Given the description of an element on the screen output the (x, y) to click on. 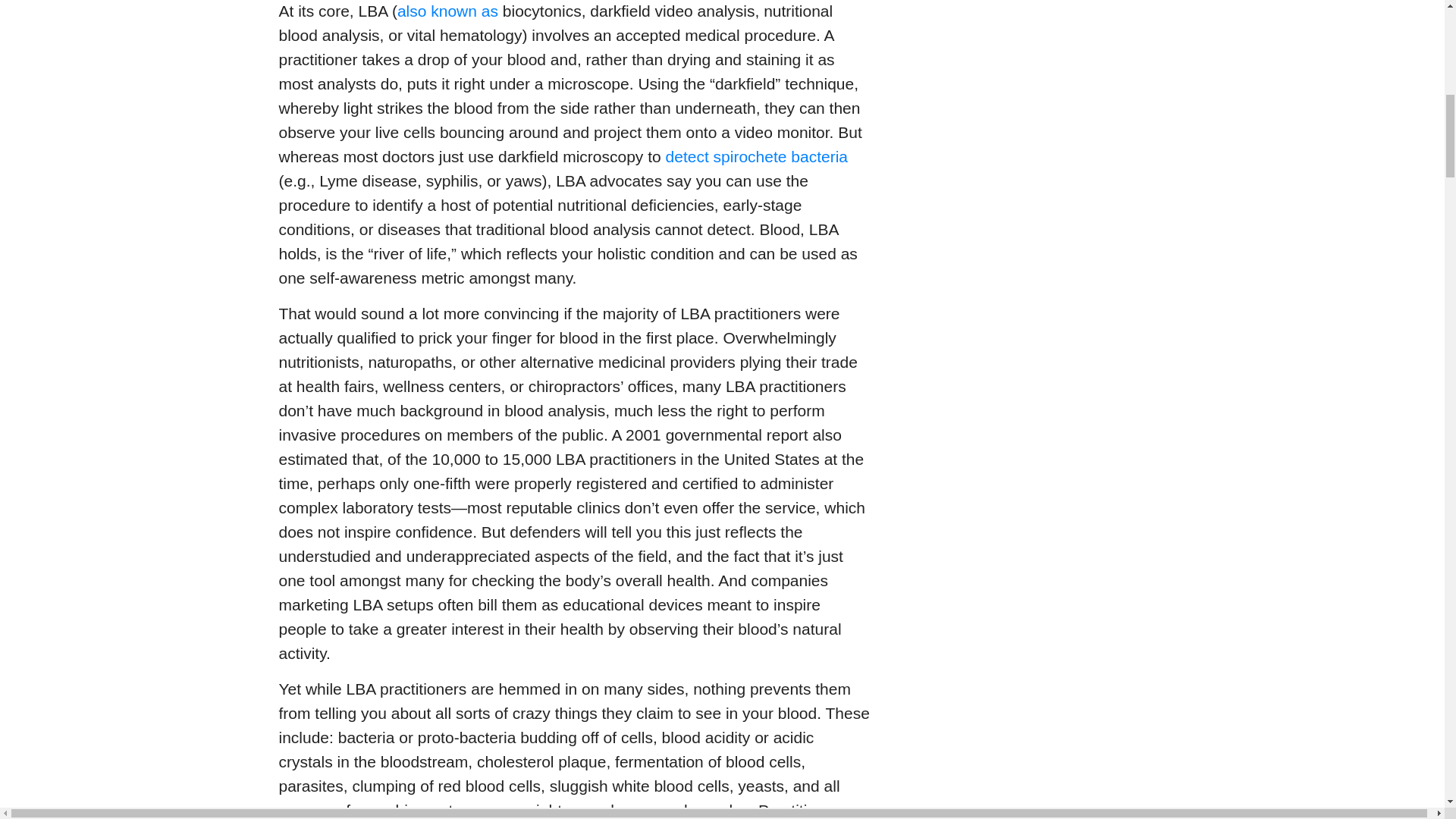
detect spirochete bacteria (756, 156)
also known as (447, 10)
